Given the description of an element on the screen output the (x, y) to click on. 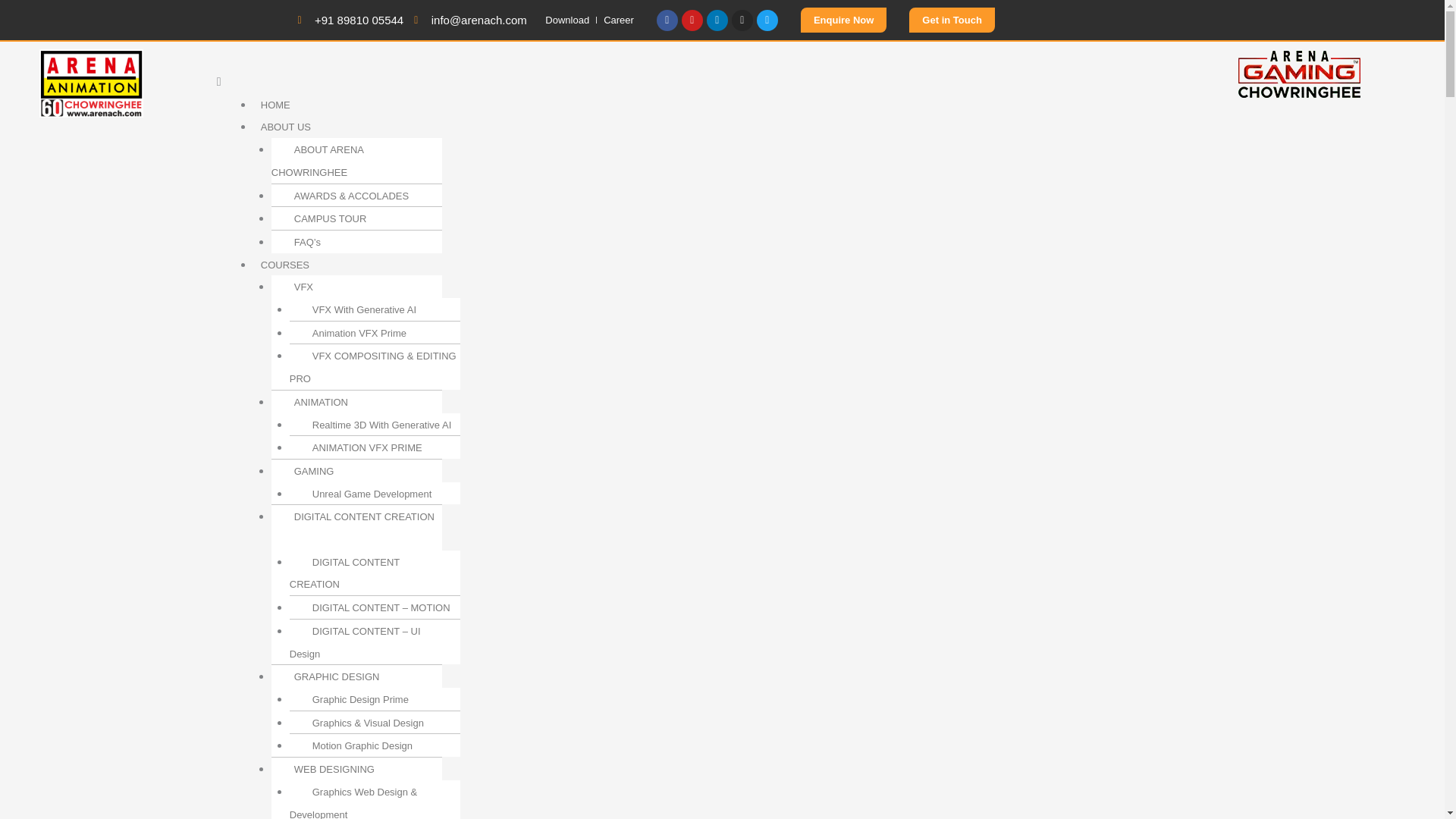
Career (618, 20)
Enquire Now (843, 19)
Motion Graphic Design (354, 745)
ABOUT ARENA CHOWRINGHEE (317, 160)
GAMING (306, 471)
GRAPHIC DESIGN (328, 676)
DIGITAL CONTENT CREATION (343, 573)
Unreal Game Development (364, 493)
COURSES (285, 264)
Get in Touch (951, 19)
